Given the description of an element on the screen output the (x, y) to click on. 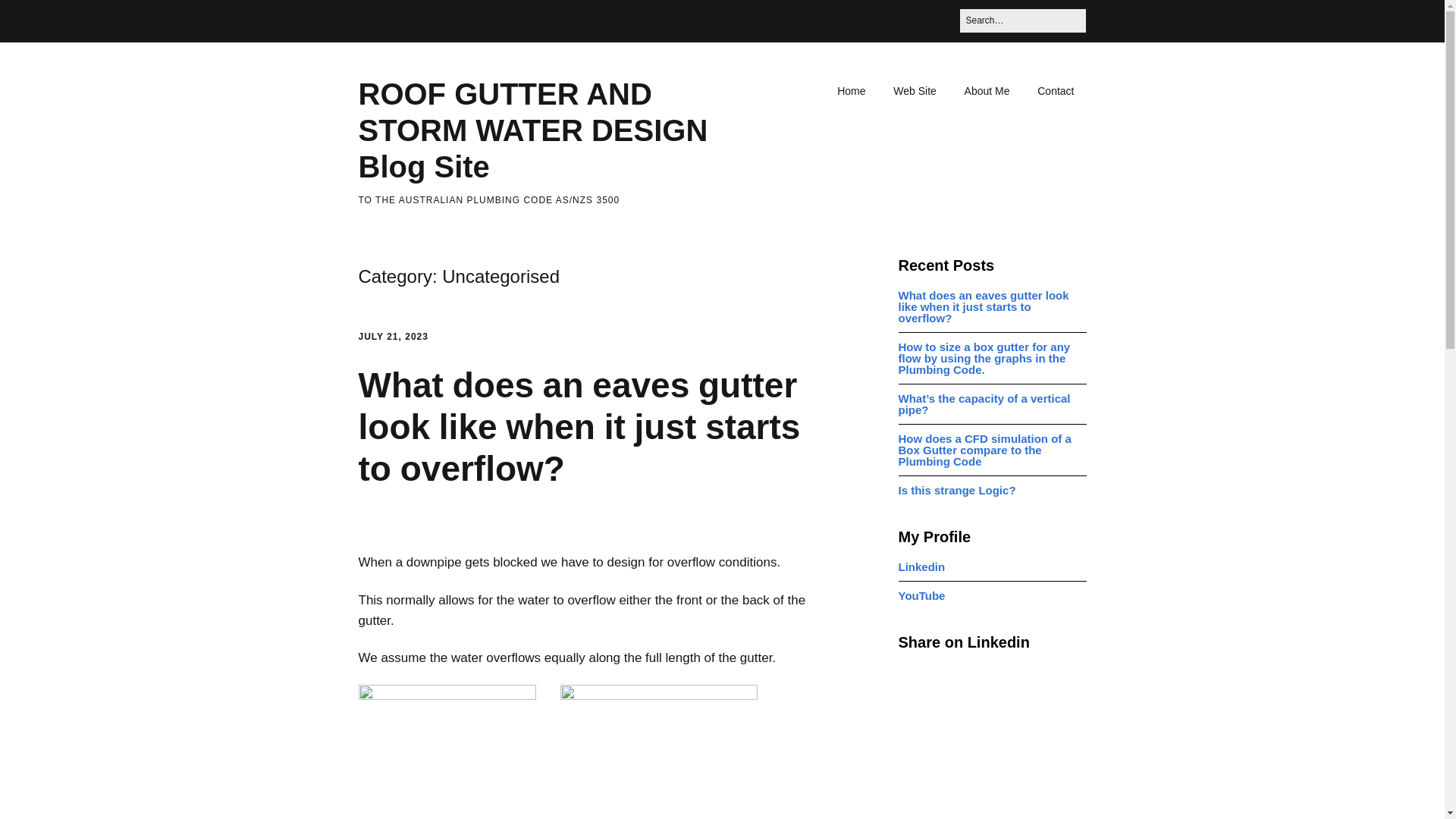
Contact (1055, 91)
Web Site (914, 91)
About Author (987, 91)
YouTube (921, 594)
Search (29, 16)
ROOF GUTTER AND STORM WATER DESIGN Blog Site (532, 129)
Home (851, 91)
Is this strange Logic? (957, 490)
About Me (987, 91)
